Given the description of an element on the screen output the (x, y) to click on. 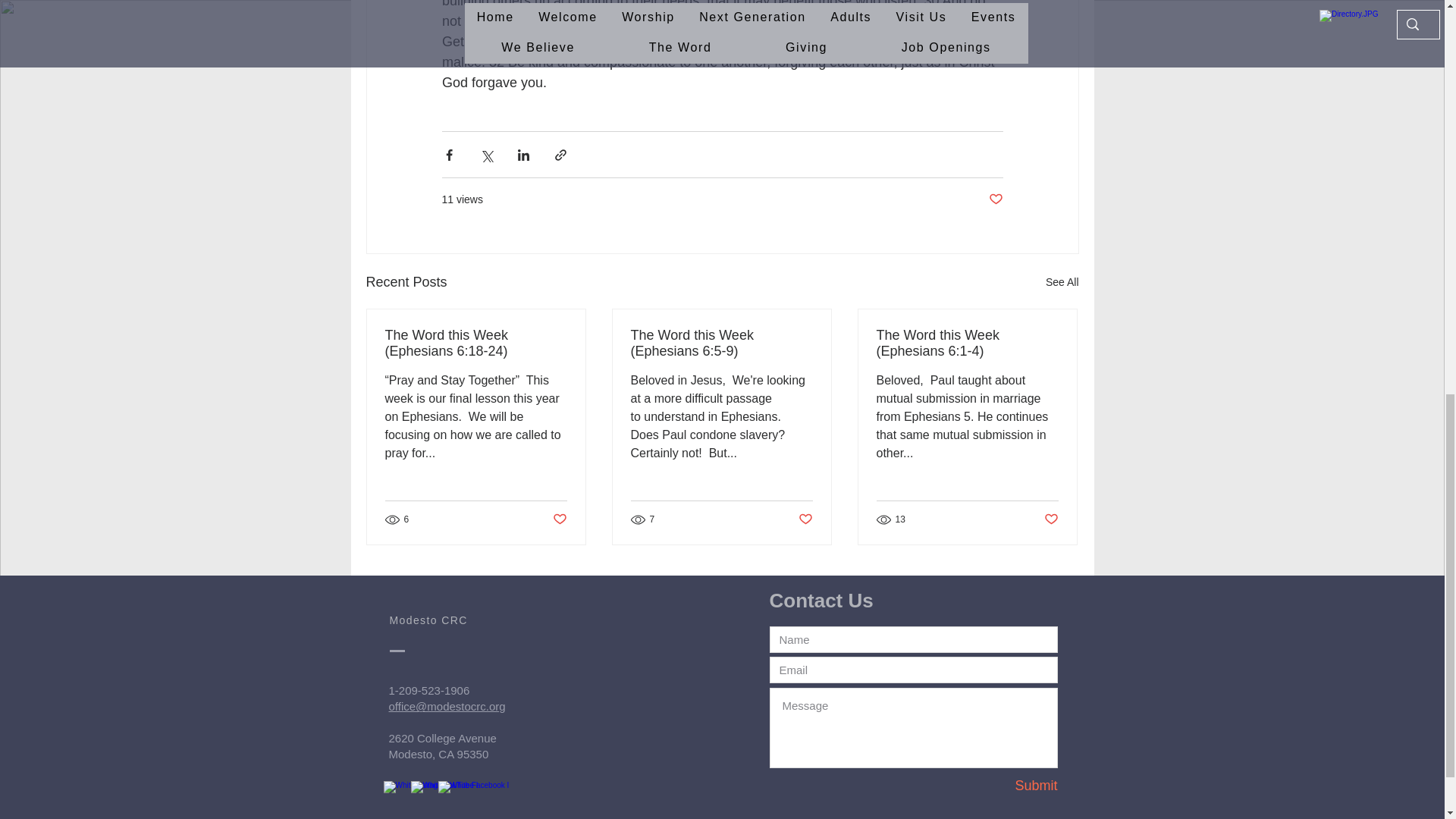
Post not marked as liked (804, 519)
See All (1061, 282)
Post not marked as liked (1050, 519)
Submit (1003, 786)
Post not marked as liked (995, 199)
Post not marked as liked (558, 519)
